Given the description of an element on the screen output the (x, y) to click on. 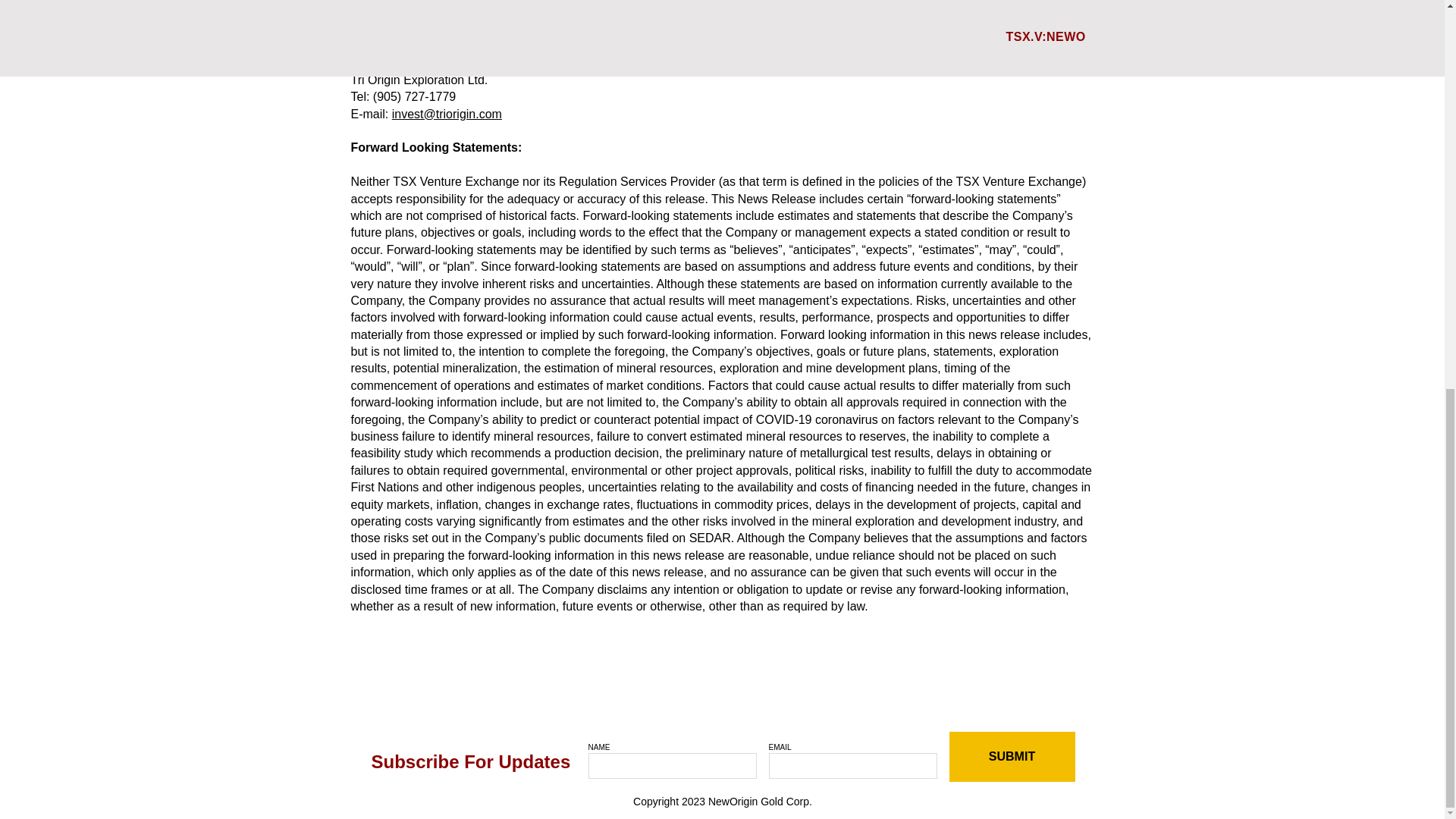
www.triorigin.com (695, 29)
SUBMIT (1012, 757)
www.sedar.com (858, 29)
